Given the description of an element on the screen output the (x, y) to click on. 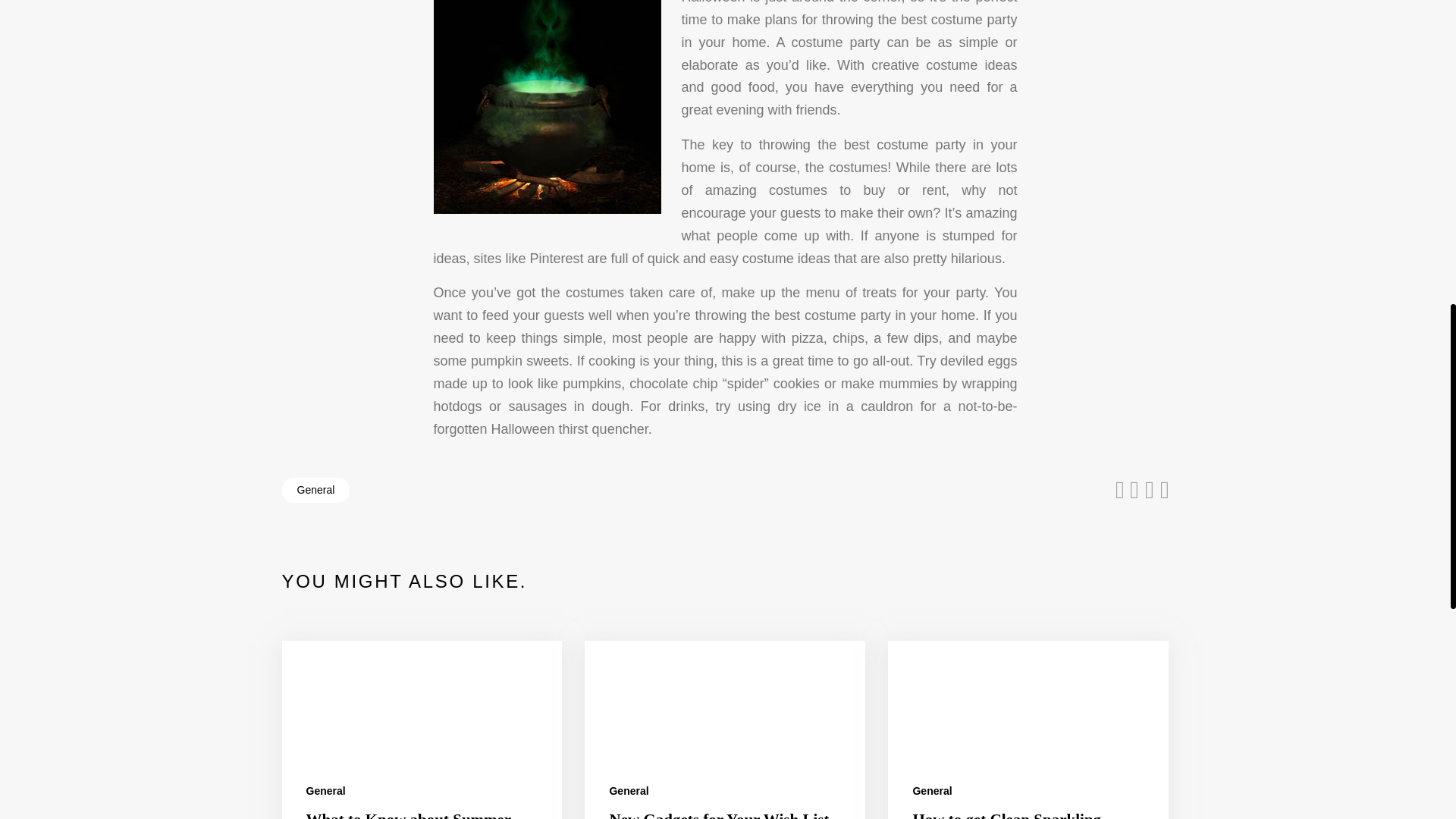
General (932, 790)
General (627, 790)
General (325, 790)
General (316, 489)
